Given the description of an element on the screen output the (x, y) to click on. 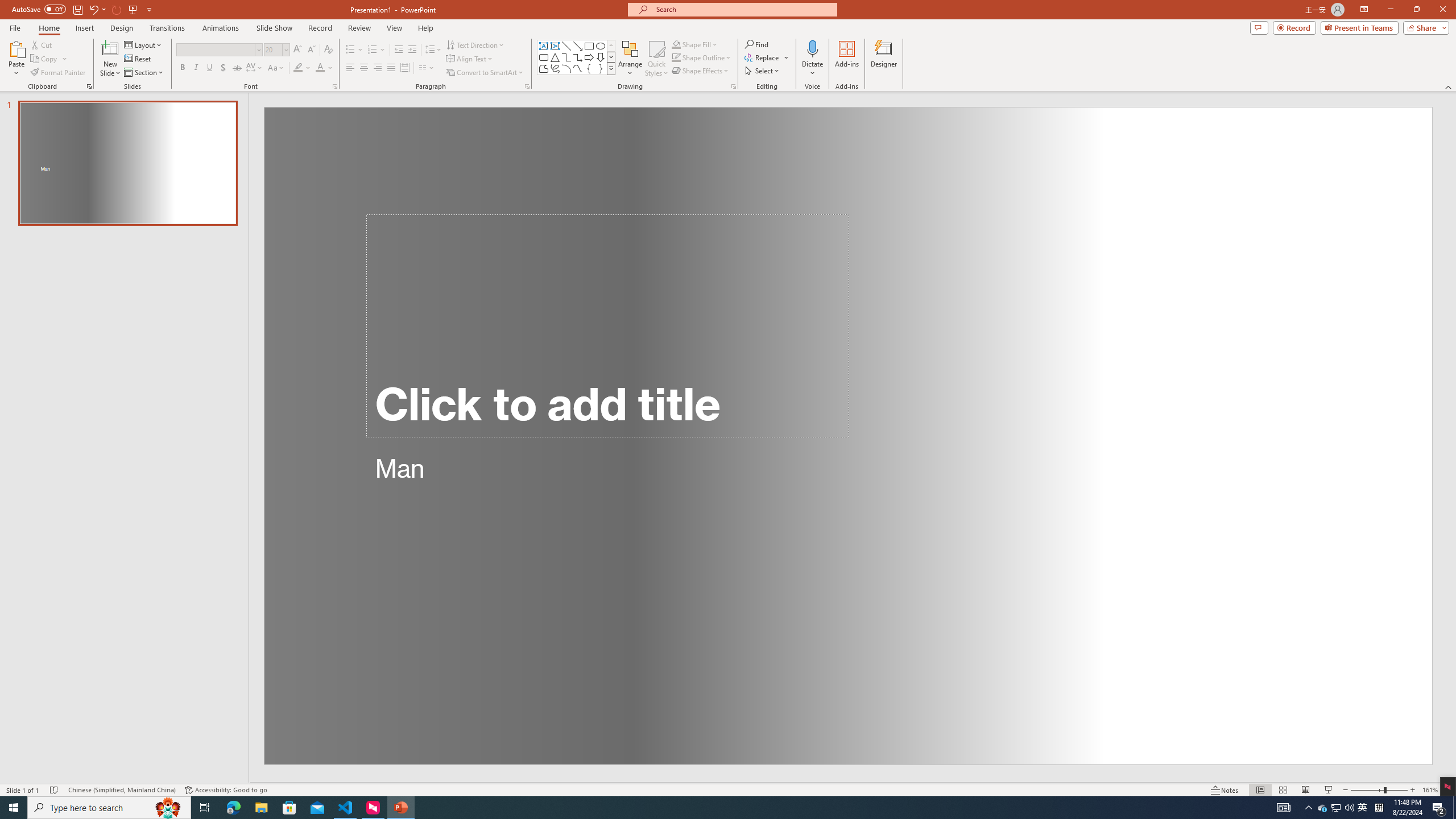
Center (363, 67)
Line Spacing (433, 49)
View (395, 28)
Text Box (543, 45)
Font... (334, 85)
Align Right (377, 67)
Columns (426, 67)
From Beginning (133, 9)
Replace... (767, 56)
Quick Access Toolbar (82, 9)
Isosceles Triangle (554, 57)
Collapse the Ribbon (1448, 86)
Microsoft search (742, 9)
Text Highlight Color Yellow (297, 67)
Rectangle: Rounded Corners (543, 57)
